Given the description of an element on the screen output the (x, y) to click on. 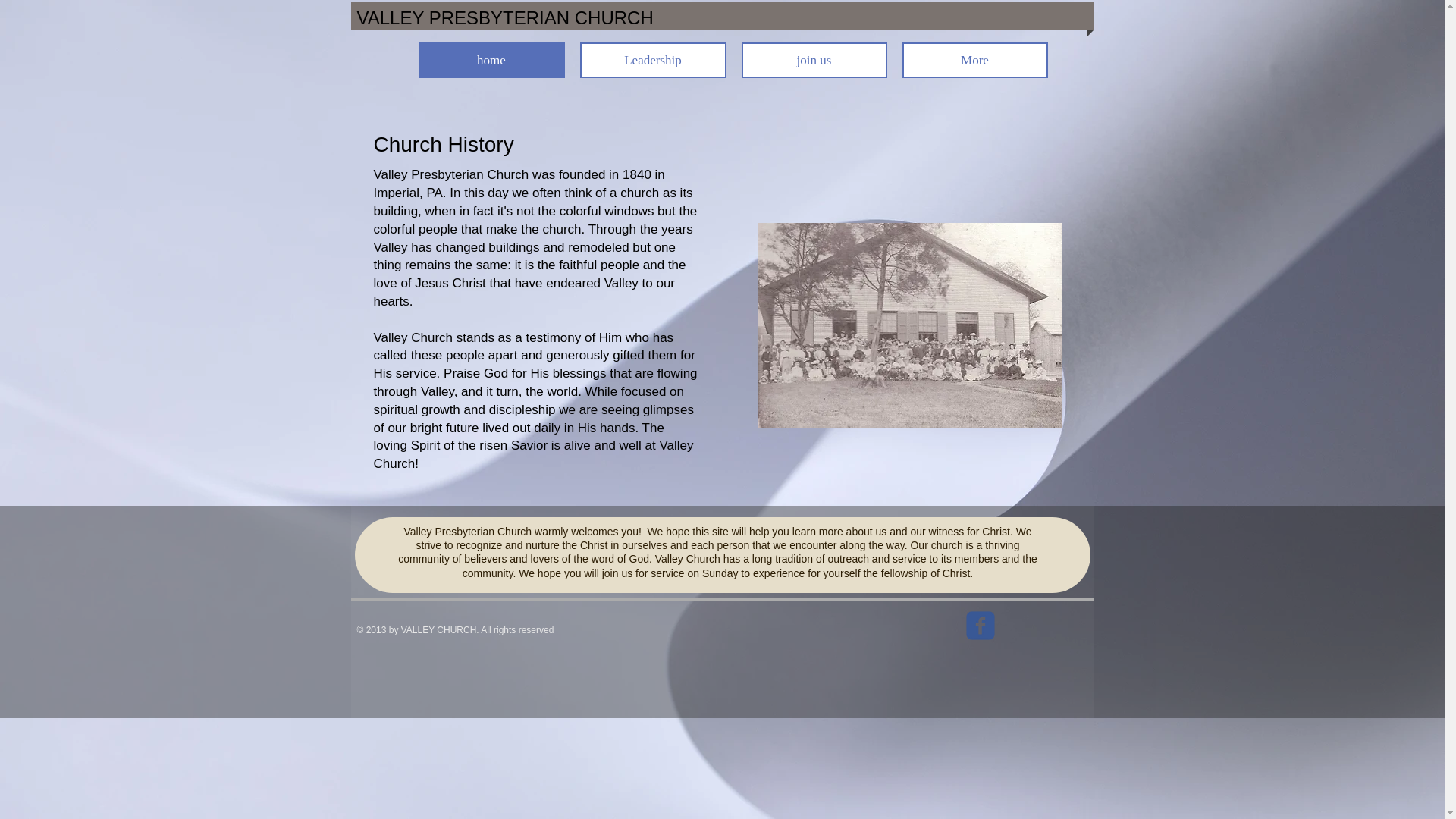
home (491, 59)
Leadership (652, 59)
join us (813, 59)
